Given the description of an element on the screen output the (x, y) to click on. 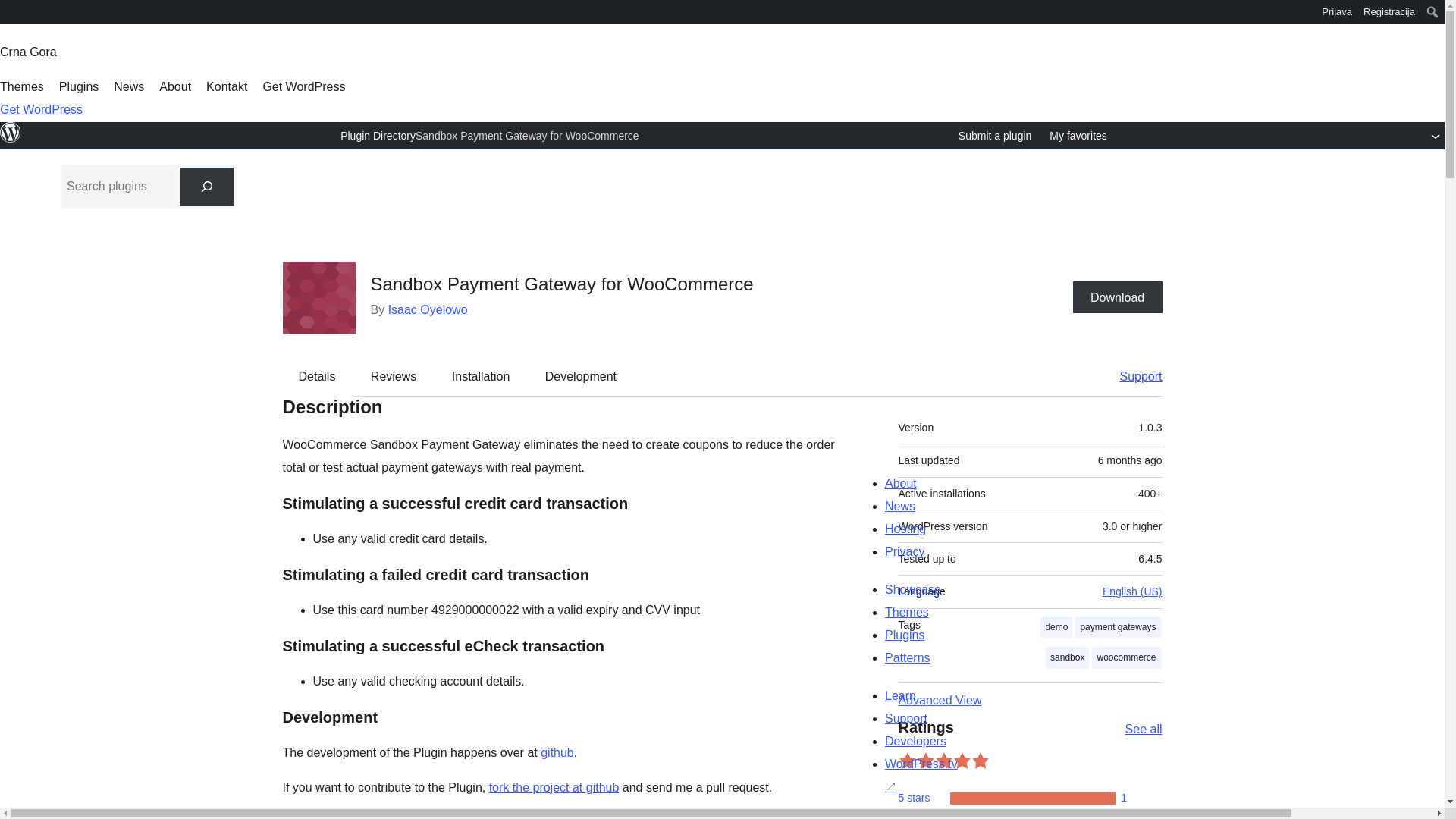
Themes (21, 87)
Submit a plugin (995, 135)
Isaac Oyelowo (427, 309)
Get WordPress (303, 87)
Pretraga (20, 13)
Details (316, 376)
WordPress.org (10, 132)
WordPress.org (10, 10)
fork the project at github (554, 787)
Plugin Directory (377, 135)
My favorites (1077, 135)
Registracija (1389, 12)
Plugins (79, 87)
Reviews (392, 376)
Support (1132, 376)
